Given the description of an element on the screen output the (x, y) to click on. 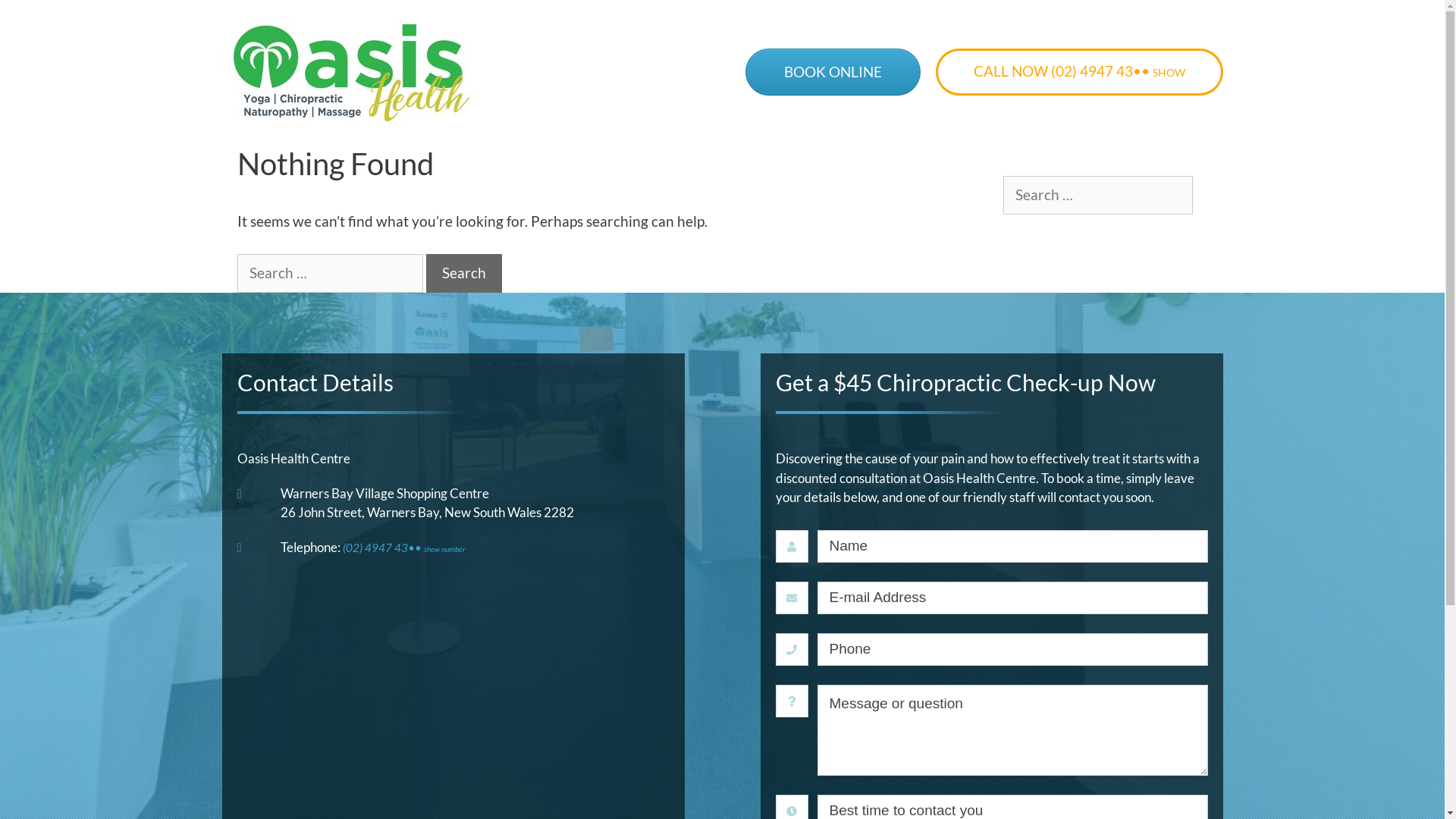
Search for: Element type: hover (1097, 194)
Oasis Health Centre Element type: hover (350, 72)
BOOK ONLINE Element type: text (832, 71)
Search Element type: text (464, 273)
Search for: Element type: hover (329, 273)
Search Element type: text (37, 19)
Oasis Health Centre Element type: hover (350, 70)
